Given the description of an element on the screen output the (x, y) to click on. 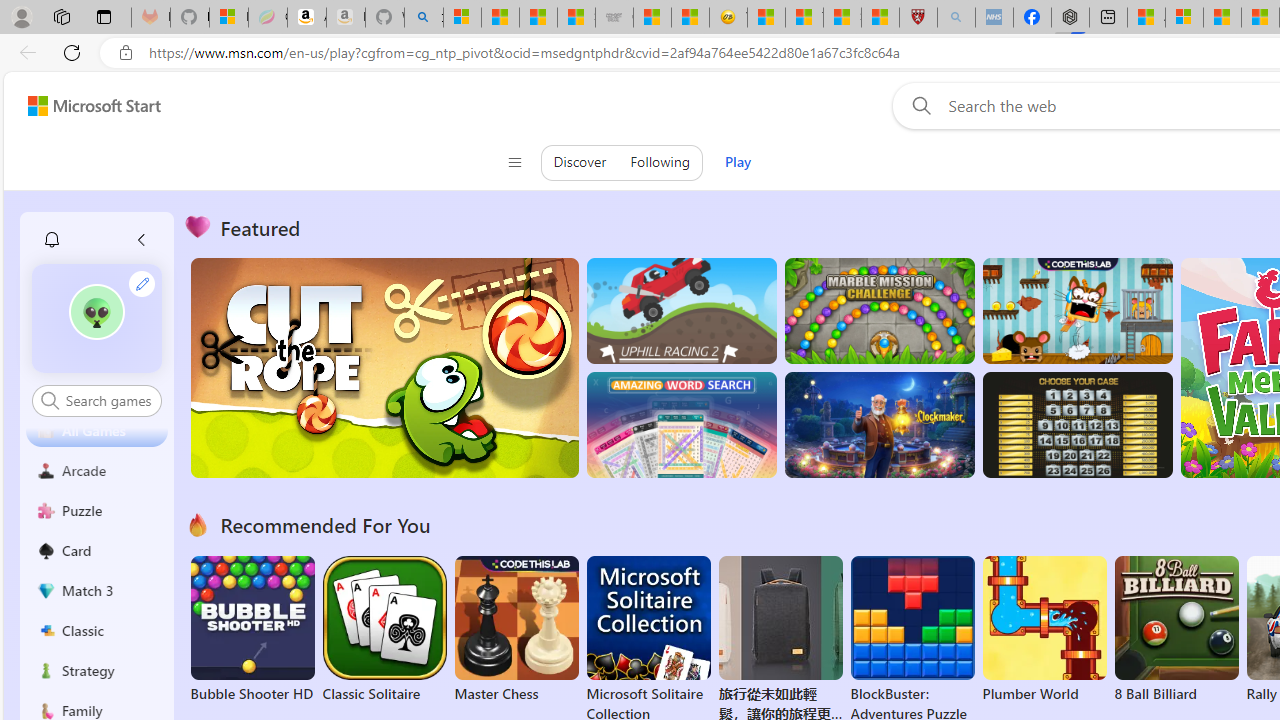
Up Hill Racing 2 (681, 310)
Class: profile-edit (142, 283)
""'s avatar (97, 318)
Cut the Rope (383, 367)
8 Ball Billiard (1176, 629)
Nordace - Nordace Siena Is Not An Ordinary Backpack (1070, 17)
Play (737, 162)
Clockmaker (879, 425)
